Given the description of an element on the screen output the (x, y) to click on. 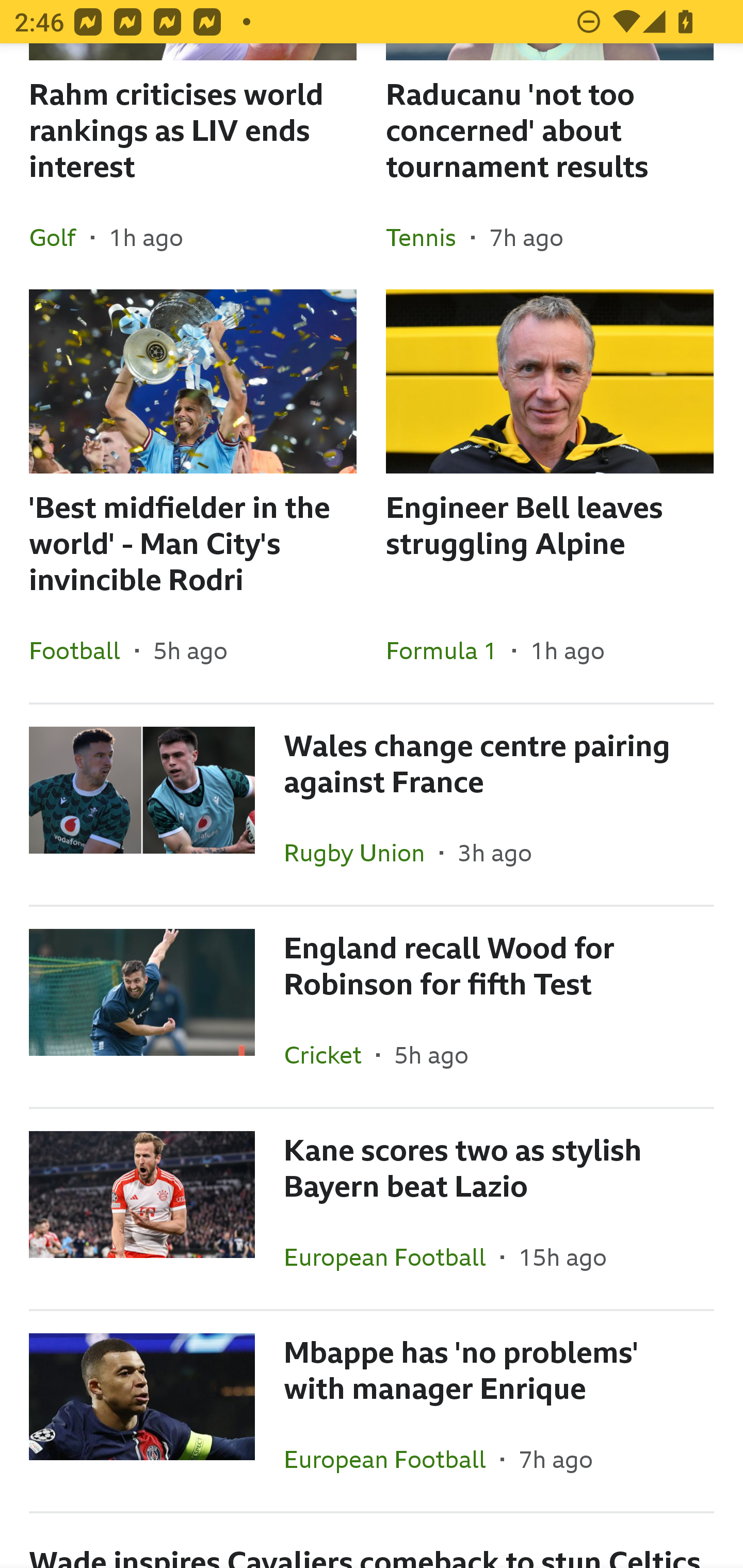
Golf In the section Golf (59, 237)
Tennis In the section Tennis (428, 237)
Football In the section Football (81, 650)
Formula 1 In the section Formula 1 (448, 650)
Rugby Union In the section Rugby Union (361, 852)
Cricket In the section Cricket (329, 1054)
European Football In the section European Football (391, 1256)
European Football In the section European Football (391, 1458)
